Given the description of an element on the screen output the (x, y) to click on. 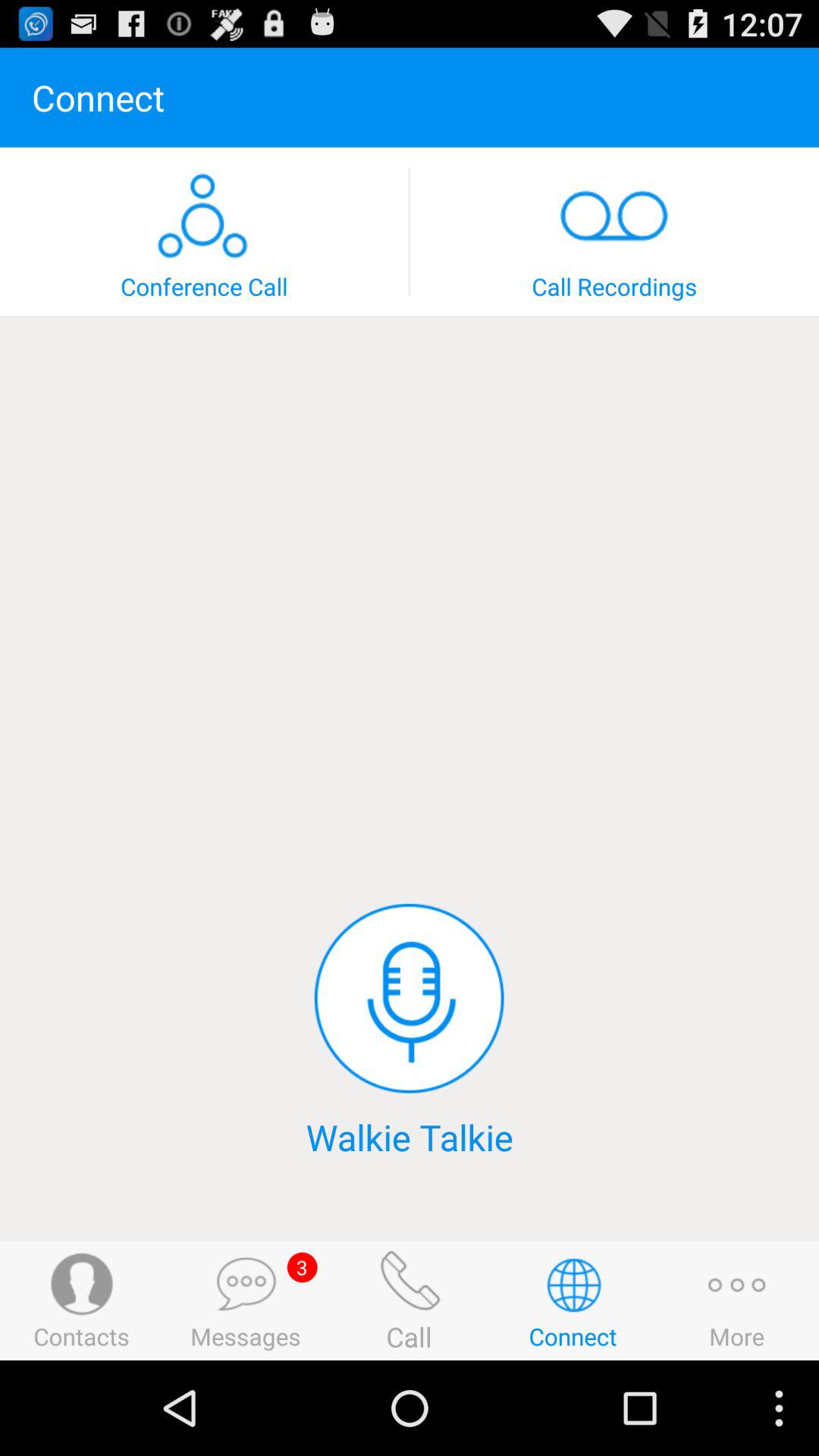
click item above walkie talkie icon (408, 998)
